Given the description of an element on the screen output the (x, y) to click on. 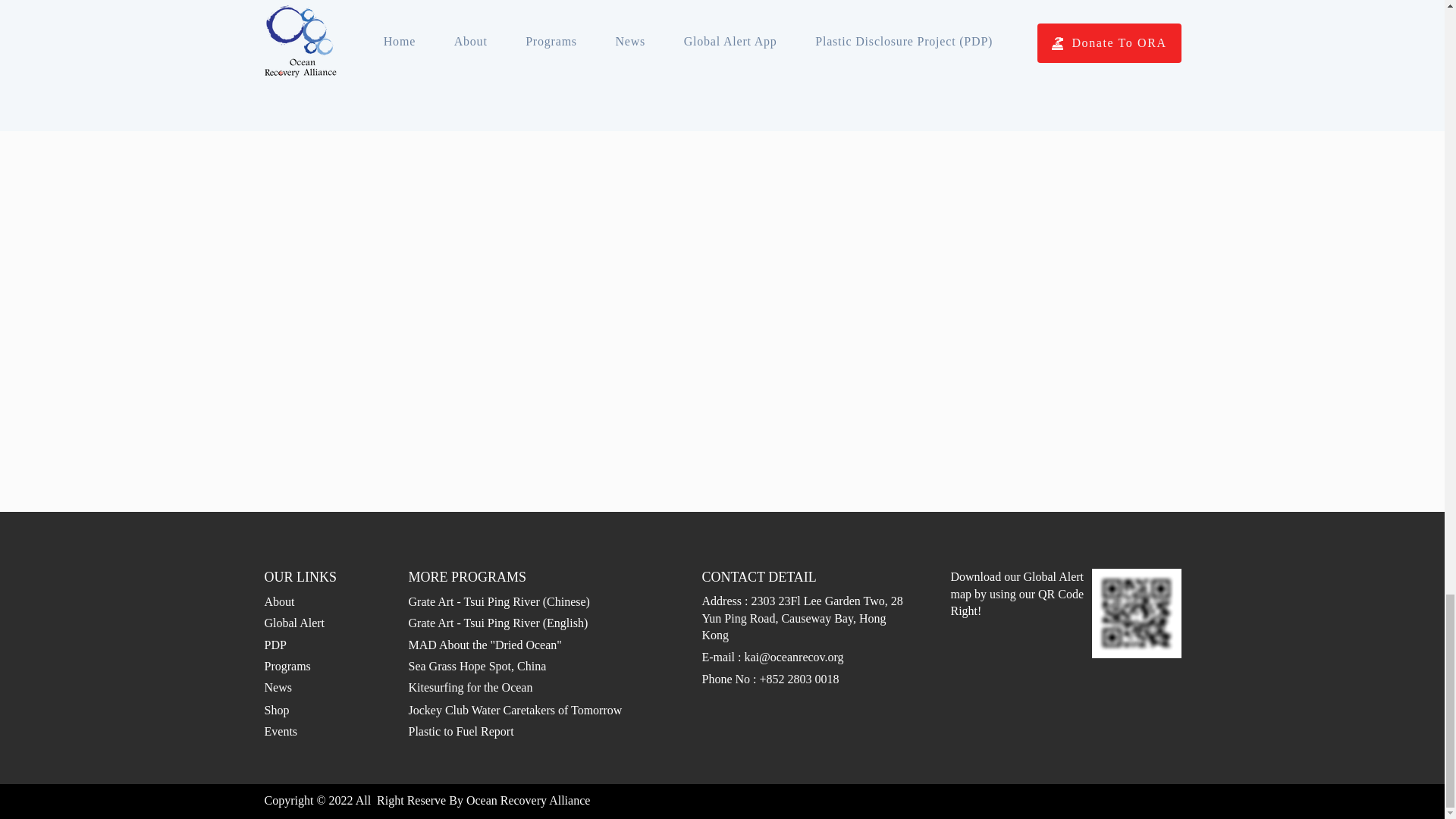
Events (280, 730)
Shop (275, 709)
About (278, 601)
Programs (286, 666)
Global Alert (293, 622)
News (277, 686)
PDP (274, 644)
